Given the description of an element on the screen output the (x, y) to click on. 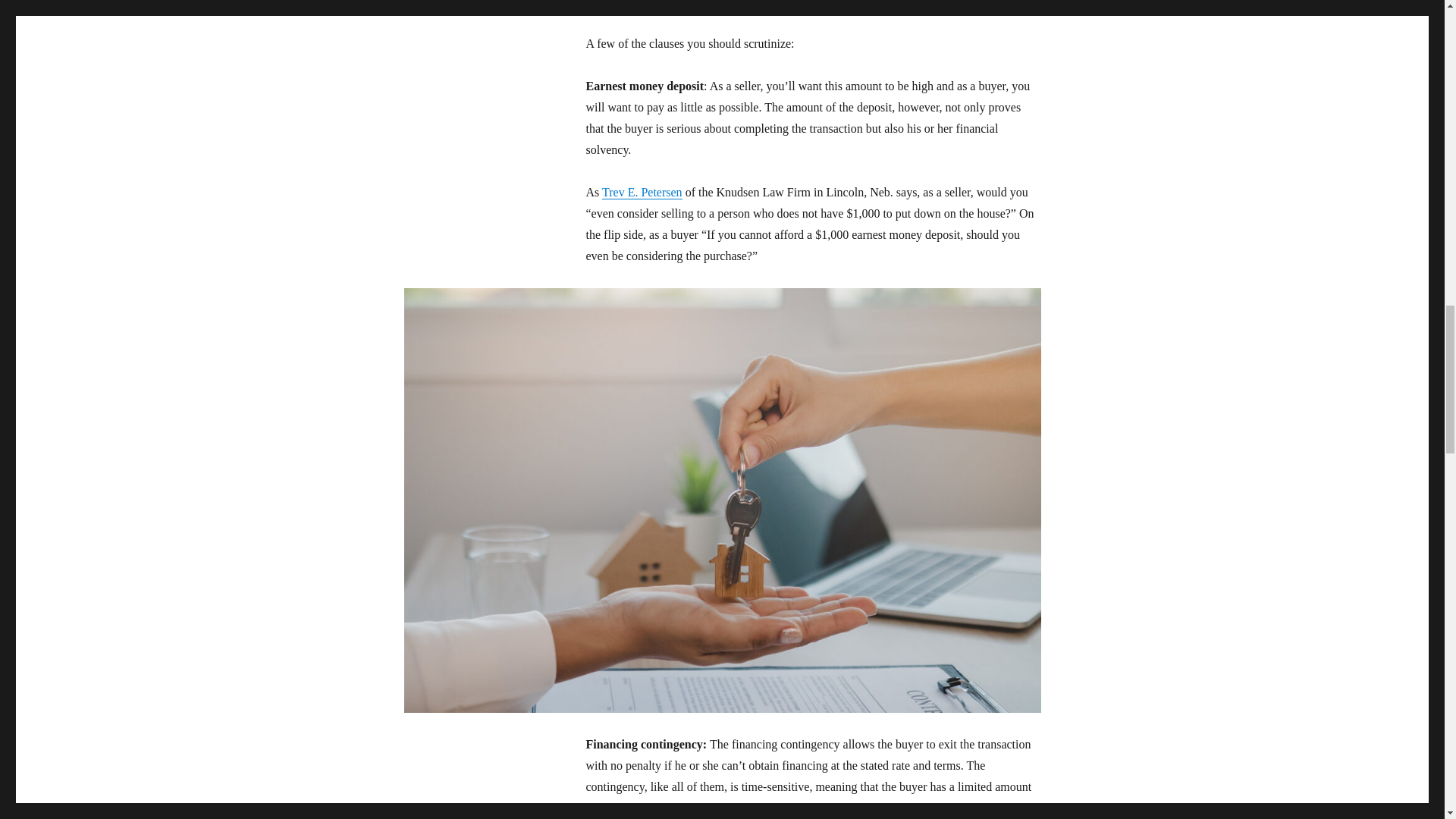
Trev E. Petersen (642, 192)
